Given the description of an element on the screen output the (x, y) to click on. 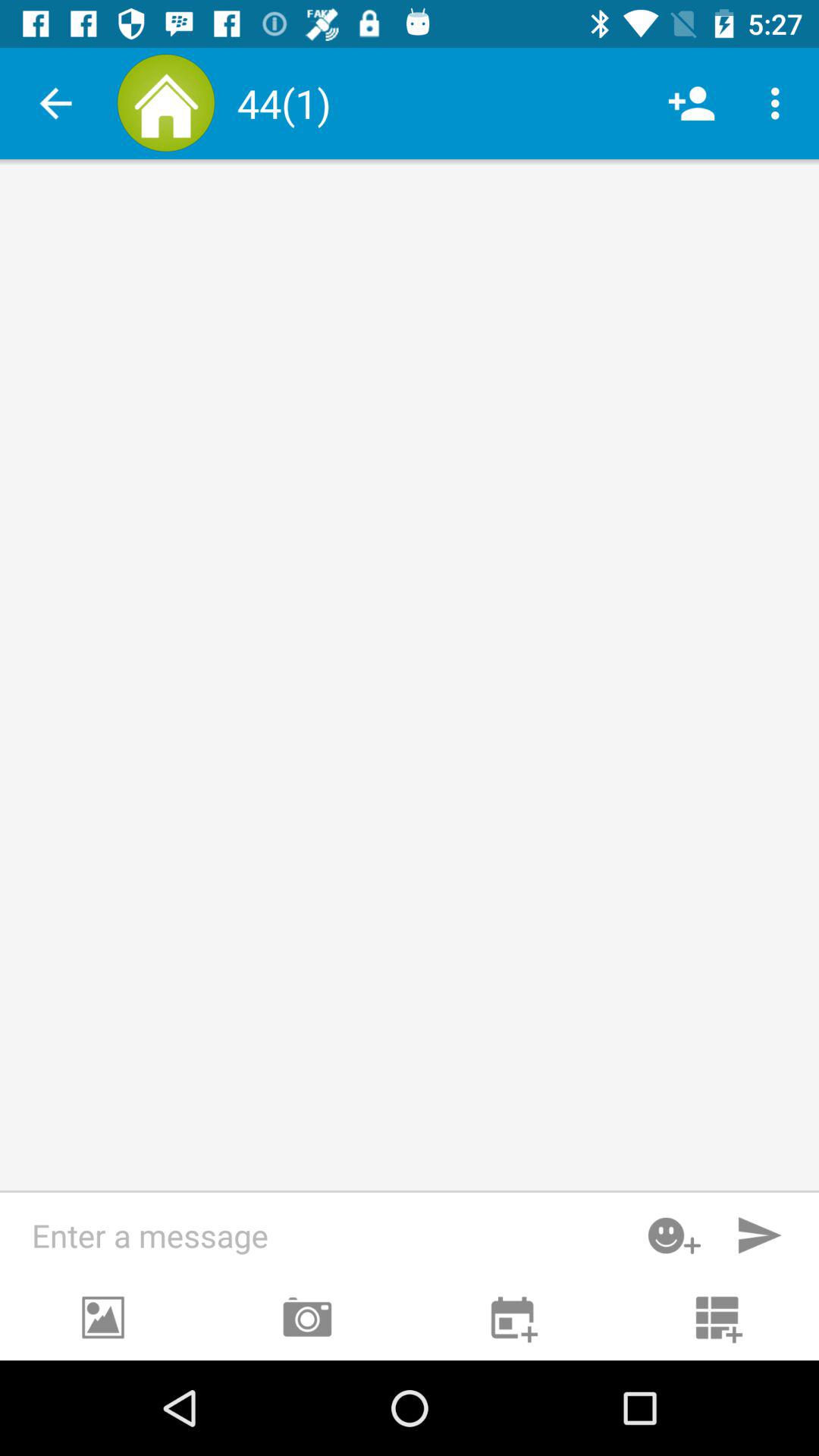
turn on the item to the right of the (1) icon (691, 103)
